Given the description of an element on the screen output the (x, y) to click on. 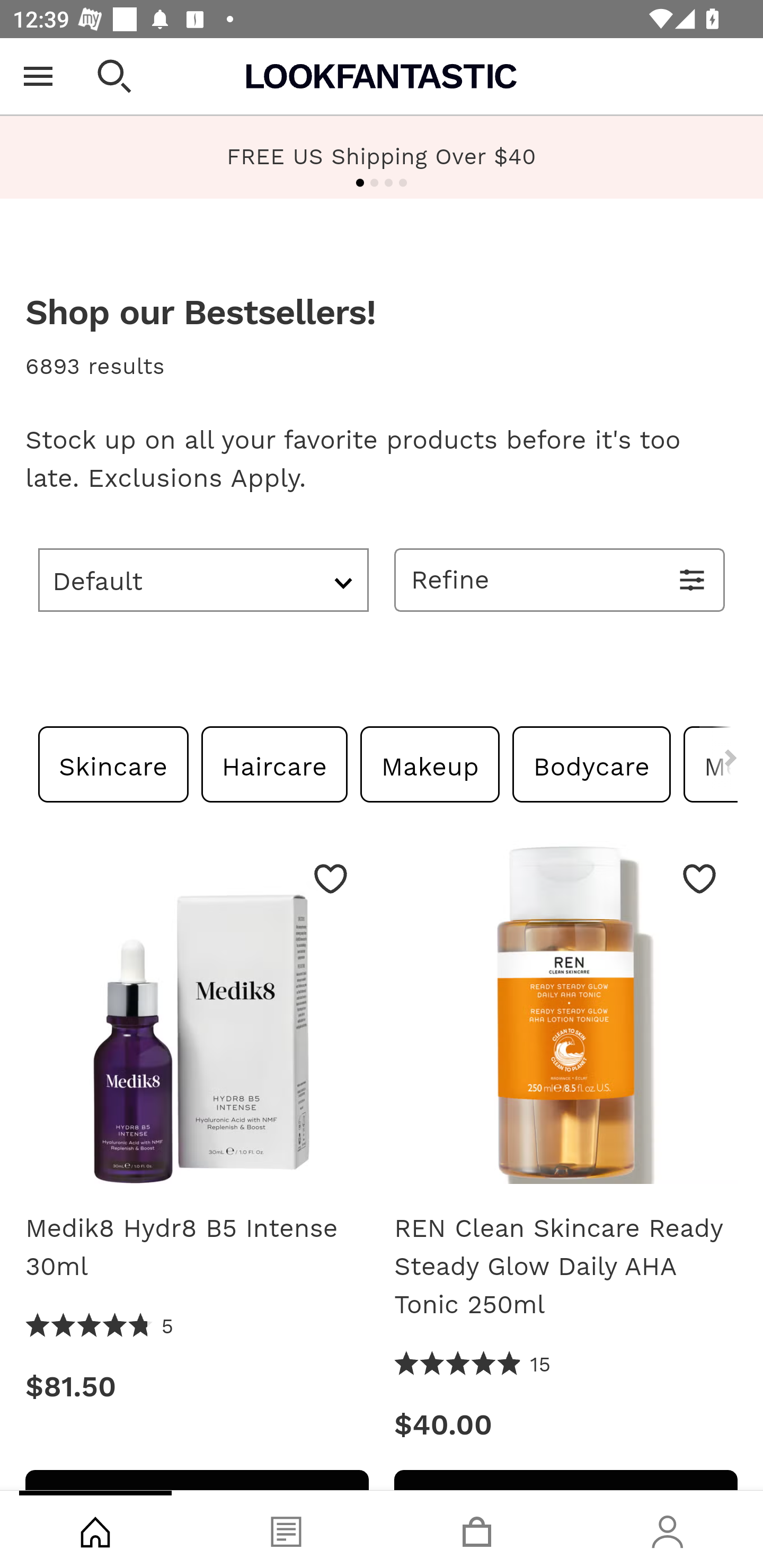
Open Menu (38, 75)
Open search (114, 75)
Lookfantastic USA (381, 75)
FREE US Shipping Over $40 (381, 157)
FREE US Shipping Over $40 (381, 155)
Default (203, 579)
Refine (559, 579)
Shop Skincare (113, 763)
Shop Haircare (273, 763)
Shop Makeup (429, 763)
Shop Bodycare (590, 763)
Medik8 Hydr8 B5 Intense 30ml (196, 1018)
Save to Wishlist (330, 878)
Save to Wishlist (698, 878)
Medik8 Hydr8 B5 Intense 30ml (196, 1247)
4.8 Stars 5 Reviews (99, 1326)
4.93 Stars 15 Reviews (472, 1365)
Price: $81.50 (196, 1387)
Price: $40.00 (565, 1425)
Shop, tab, 1 of 4 (95, 1529)
Blog, tab, 2 of 4 (285, 1529)
Basket, tab, 3 of 4 (476, 1529)
Account, tab, 4 of 4 (667, 1529)
